Given the description of an element on the screen output the (x, y) to click on. 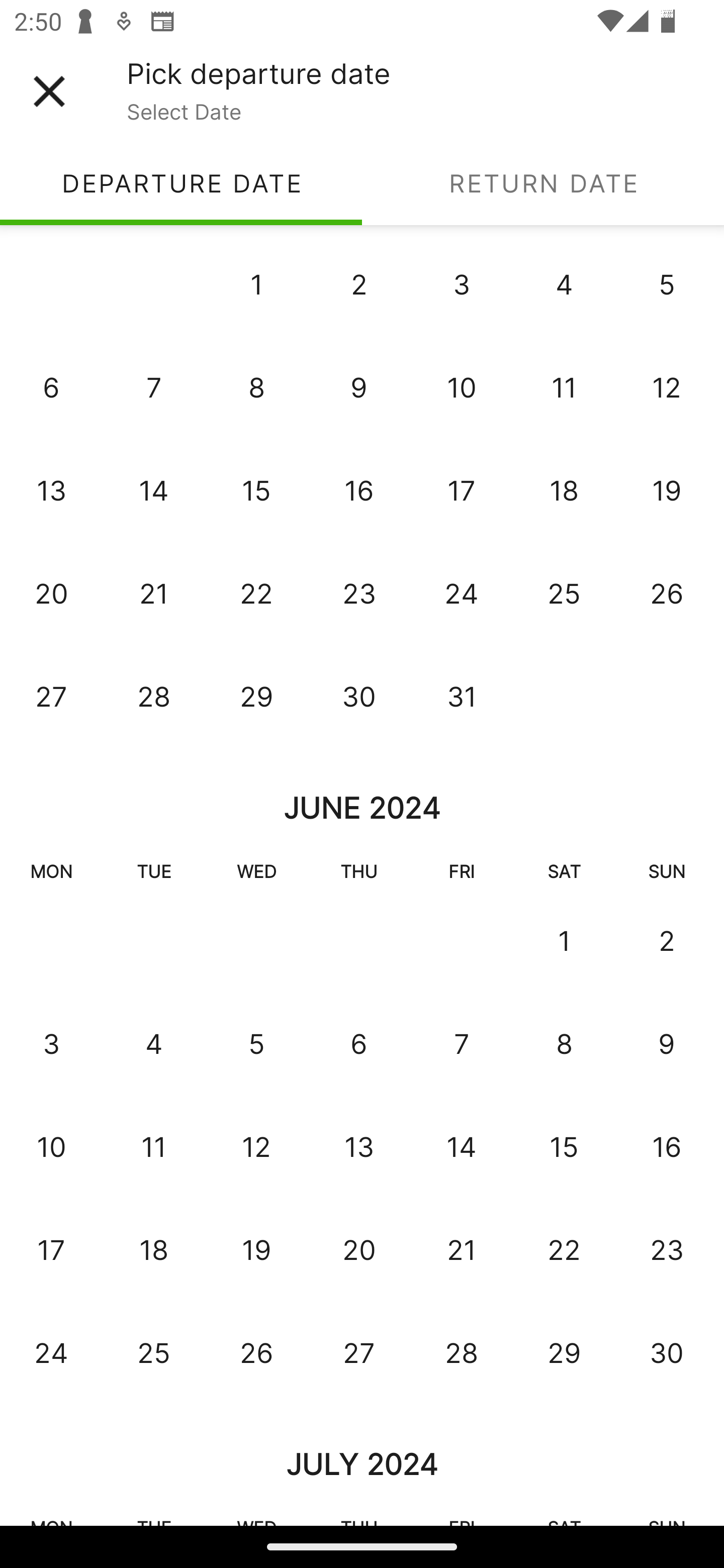
Return Date RETURN DATE (543, 183)
